Given the description of an element on the screen output the (x, y) to click on. 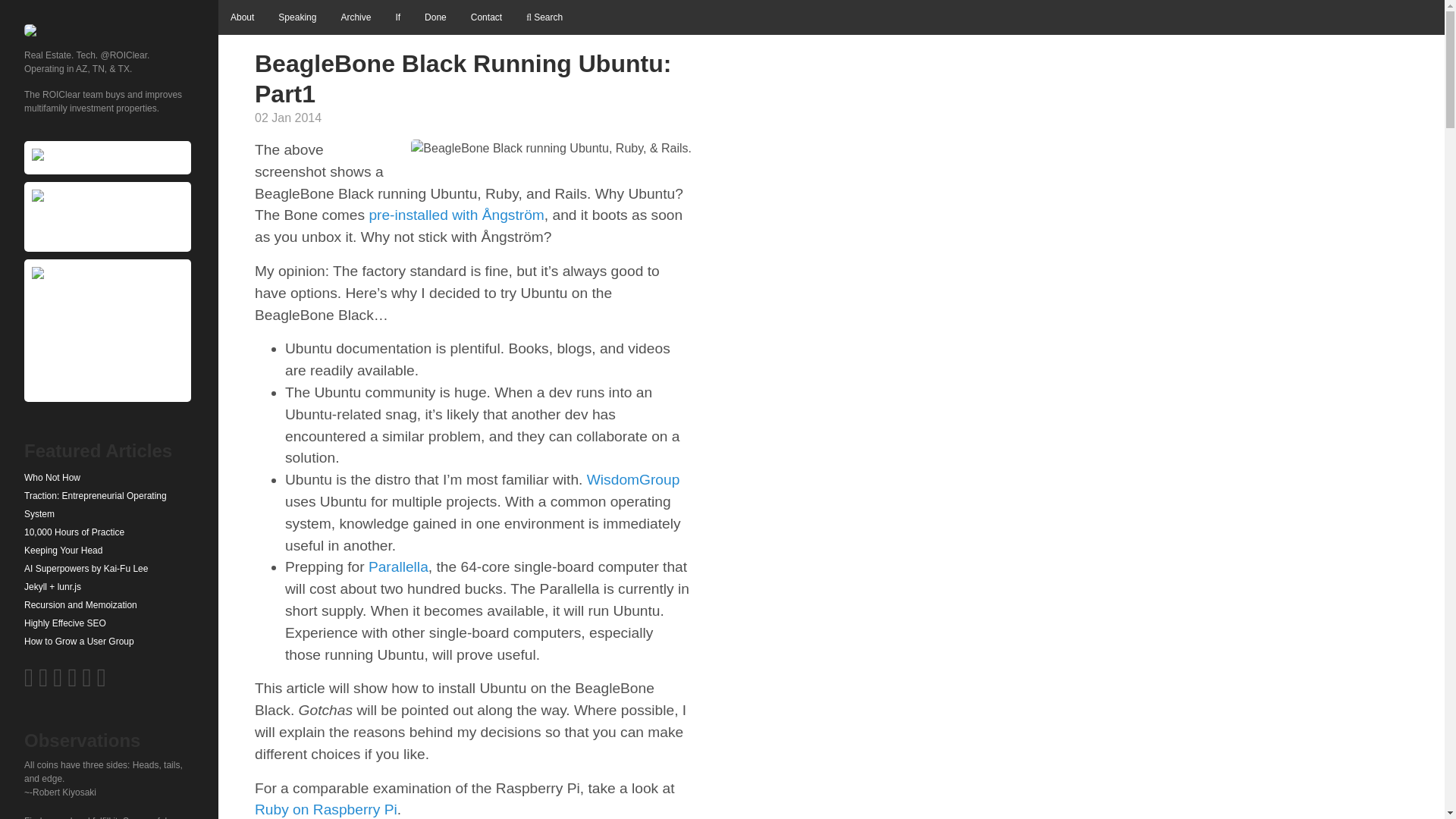
AI Superpowers by Kai-Fu Lee (108, 568)
Recursion and Memoization (108, 605)
Contact (485, 17)
Archive (355, 17)
WisdomGroup (632, 479)
Keeping Your Head (108, 550)
How to Grow a User Group (108, 641)
Parallella (398, 566)
Speaking (297, 17)
Done (435, 17)
